Given the description of an element on the screen output the (x, y) to click on. 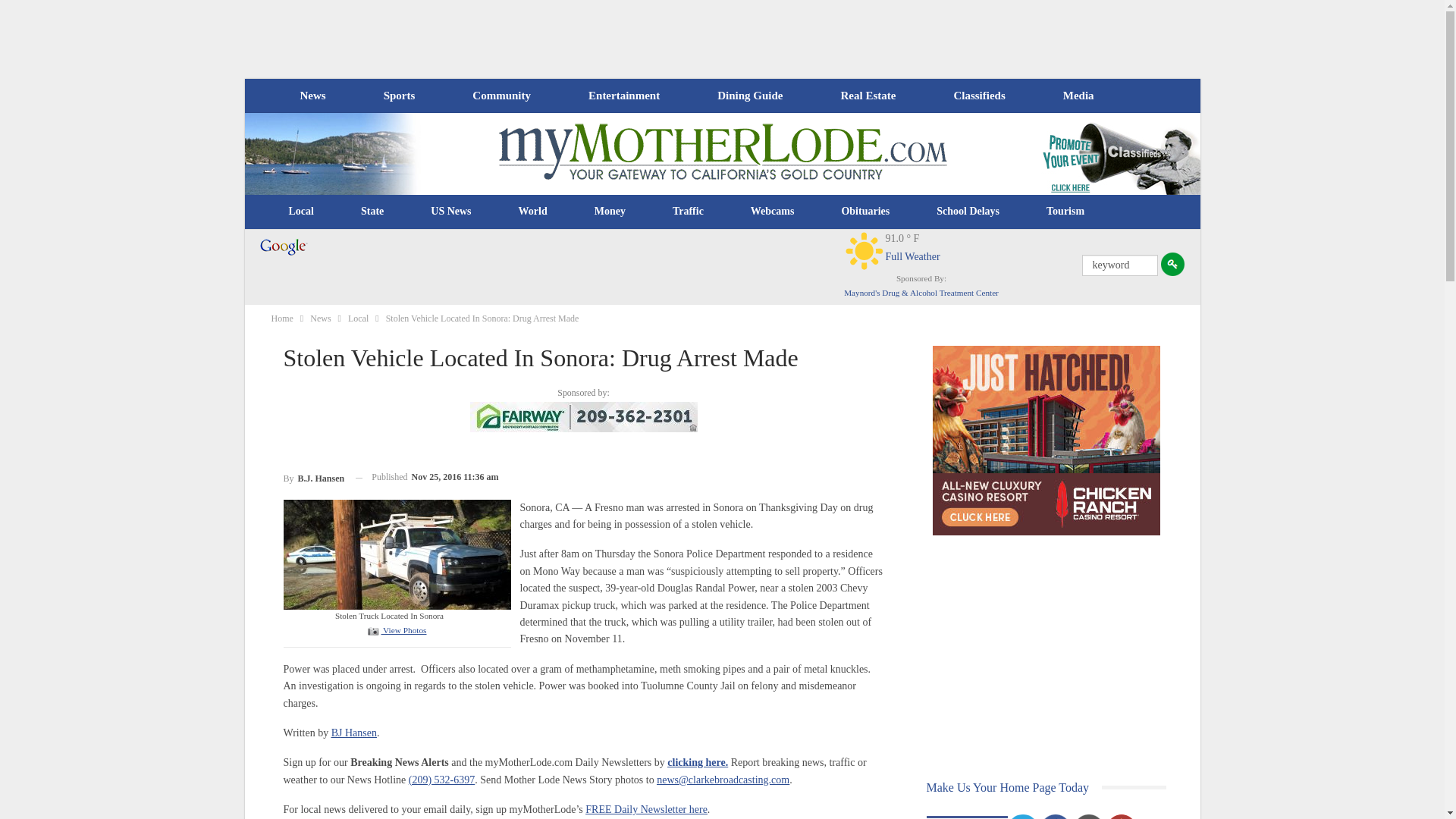
Money (609, 211)
School Delays (967, 211)
Stolen Vehicle Located In Sonora: Drug Arrest Made (396, 629)
World (532, 211)
State (372, 211)
Submit (1172, 264)
Dining Guide (749, 95)
Clear (864, 250)
Fairway Mortgage (583, 417)
Browse Author Articles (314, 476)
Community (501, 95)
Obituaries (865, 211)
